Given the description of an element on the screen output the (x, y) to click on. 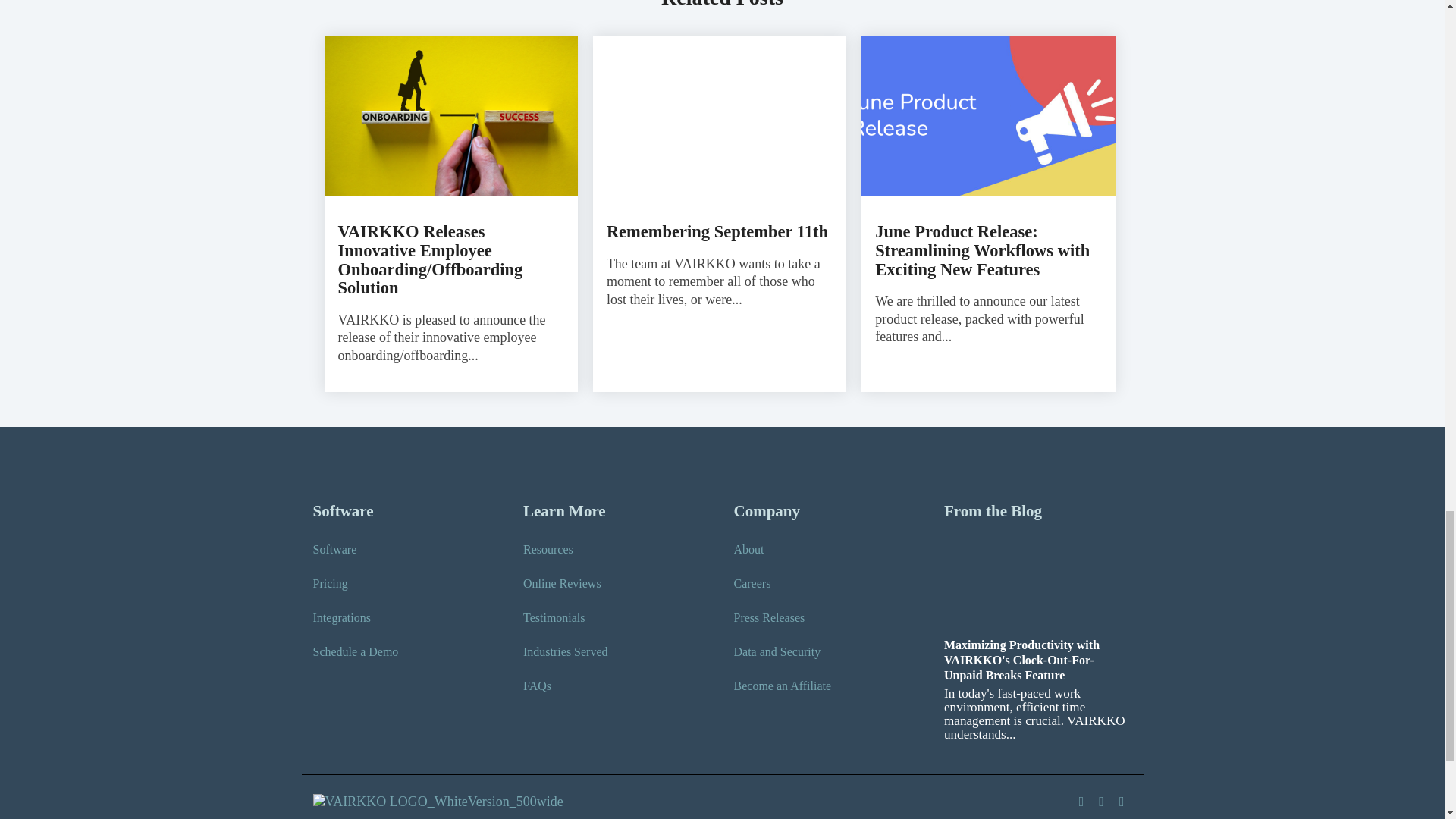
Pricing (330, 583)
FAQs (536, 685)
Integrations (341, 617)
Press Releases (769, 617)
Online Reviews (561, 583)
Software (334, 548)
Privacy Policy (348, 818)
Become an Affiliate (782, 685)
Resources (547, 548)
About (748, 548)
Industries Served (565, 651)
Data and Security (777, 651)
Testimonials (553, 617)
Schedule a Demo (355, 651)
